Given the description of an element on the screen output the (x, y) to click on. 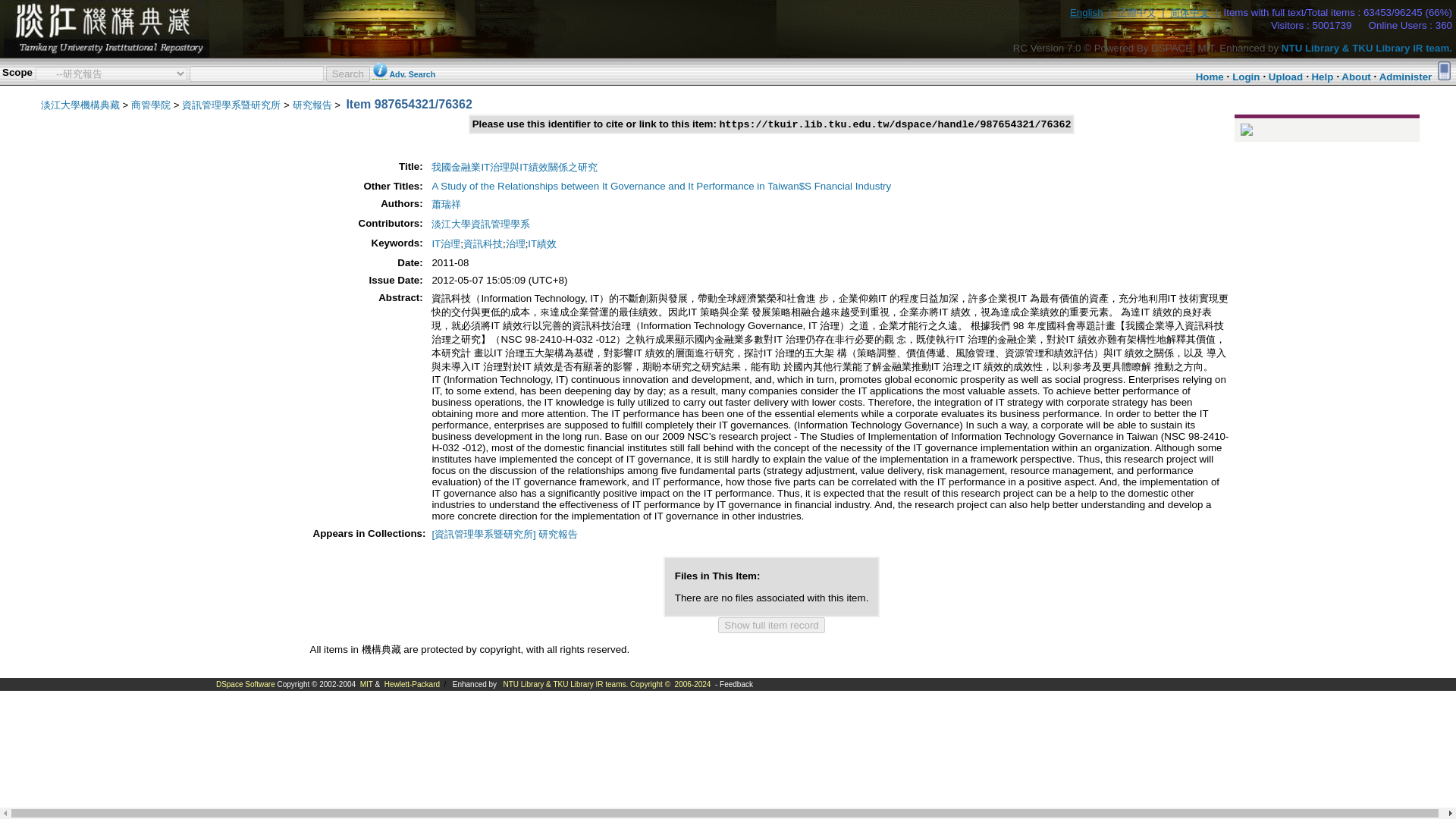
Show full item record (770, 625)
About (1355, 76)
DSpace Software (245, 684)
MIT (365, 684)
Login (1245, 76)
English (1087, 12)
Upload (1285, 76)
Administer (1405, 76)
Help (1322, 76)
Search (347, 73)
